Given the description of an element on the screen output the (x, y) to click on. 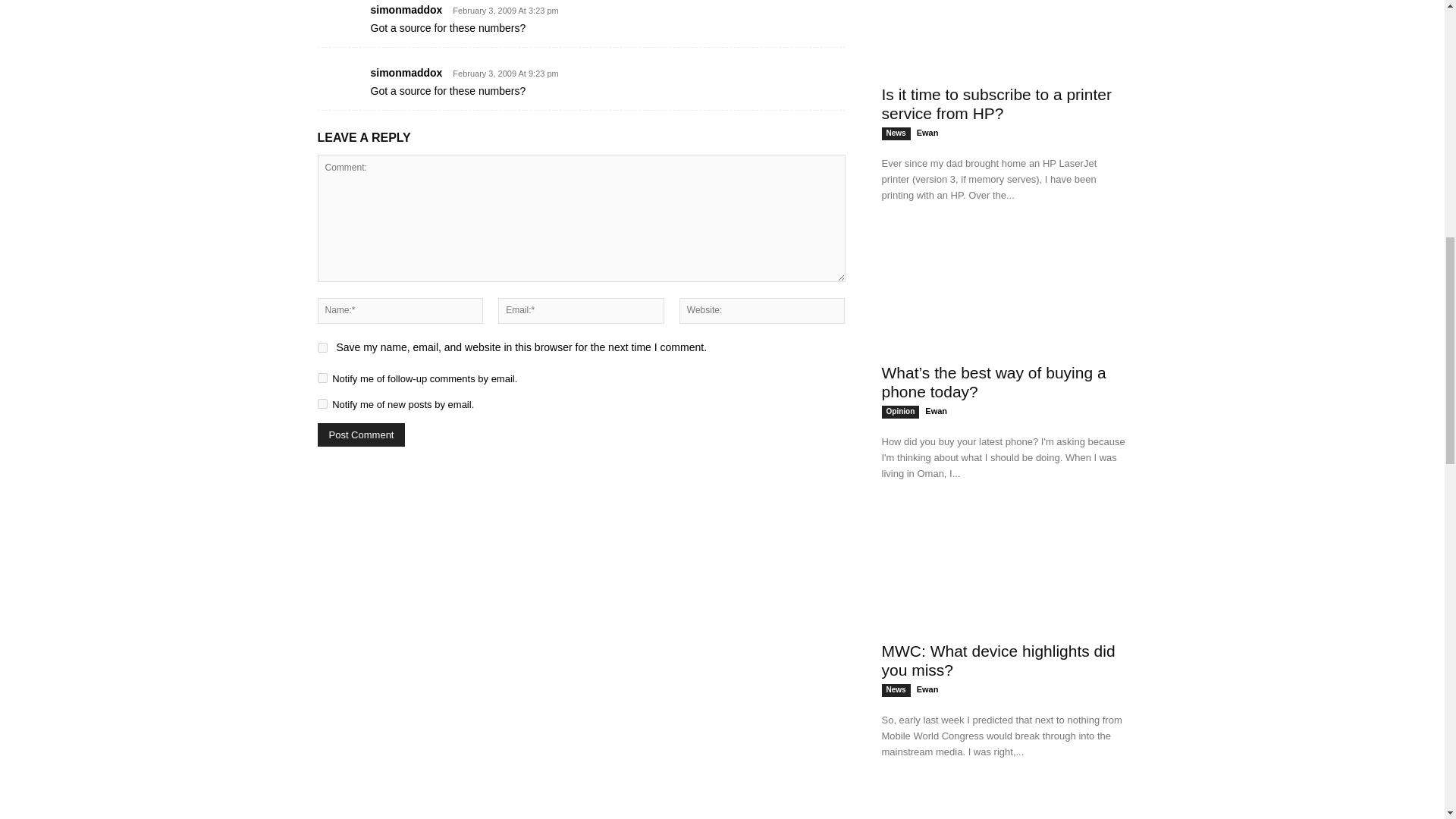
February 3, 2009 At 9:23 pm (501, 73)
Post Comment (360, 434)
February 3, 2009 At 3:23 pm (501, 10)
subscribe (321, 403)
News (895, 133)
Is it time to subscribe to a printer service from HP? (1003, 37)
yes (321, 347)
simonmaddox (405, 9)
Post Comment (360, 434)
simonmaddox (405, 72)
